Given the description of an element on the screen output the (x, y) to click on. 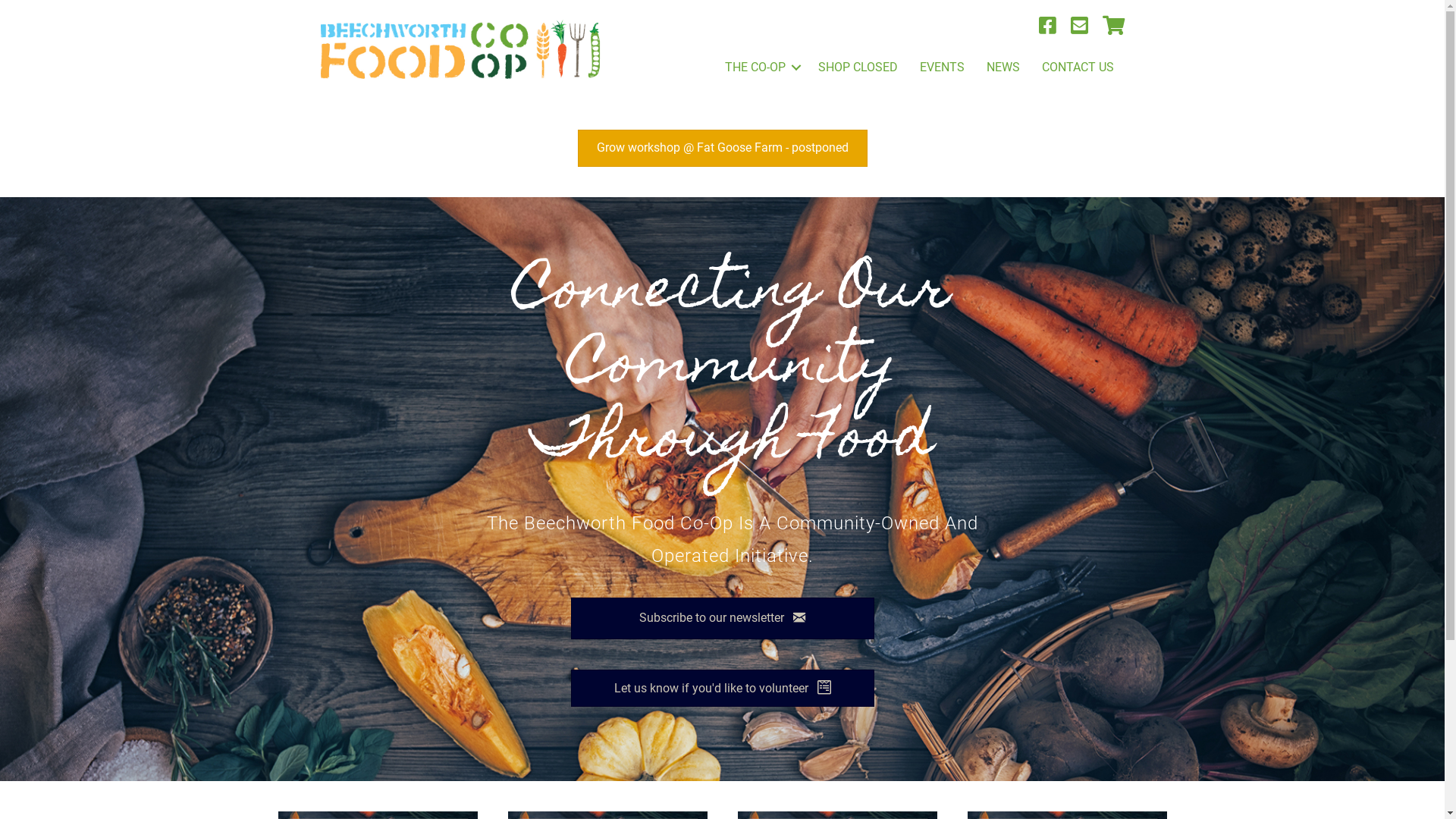
THE CO-OP Element type: text (760, 67)
NEWS Element type: text (1002, 67)
Grow workshop @ Fat Goose Farm - postponed Element type: text (722, 147)
Subscribe to our newsletter Element type: text (721, 618)
SHOP CLOSED Element type: text (857, 67)
EVENTS Element type: text (942, 67)
BWFCOP_Logo_fruit Element type: hover (460, 48)
Let us know if you'd like to volunteer Element type: text (721, 687)
CONTACT US Element type: text (1077, 67)
